Given the description of an element on the screen output the (x, y) to click on. 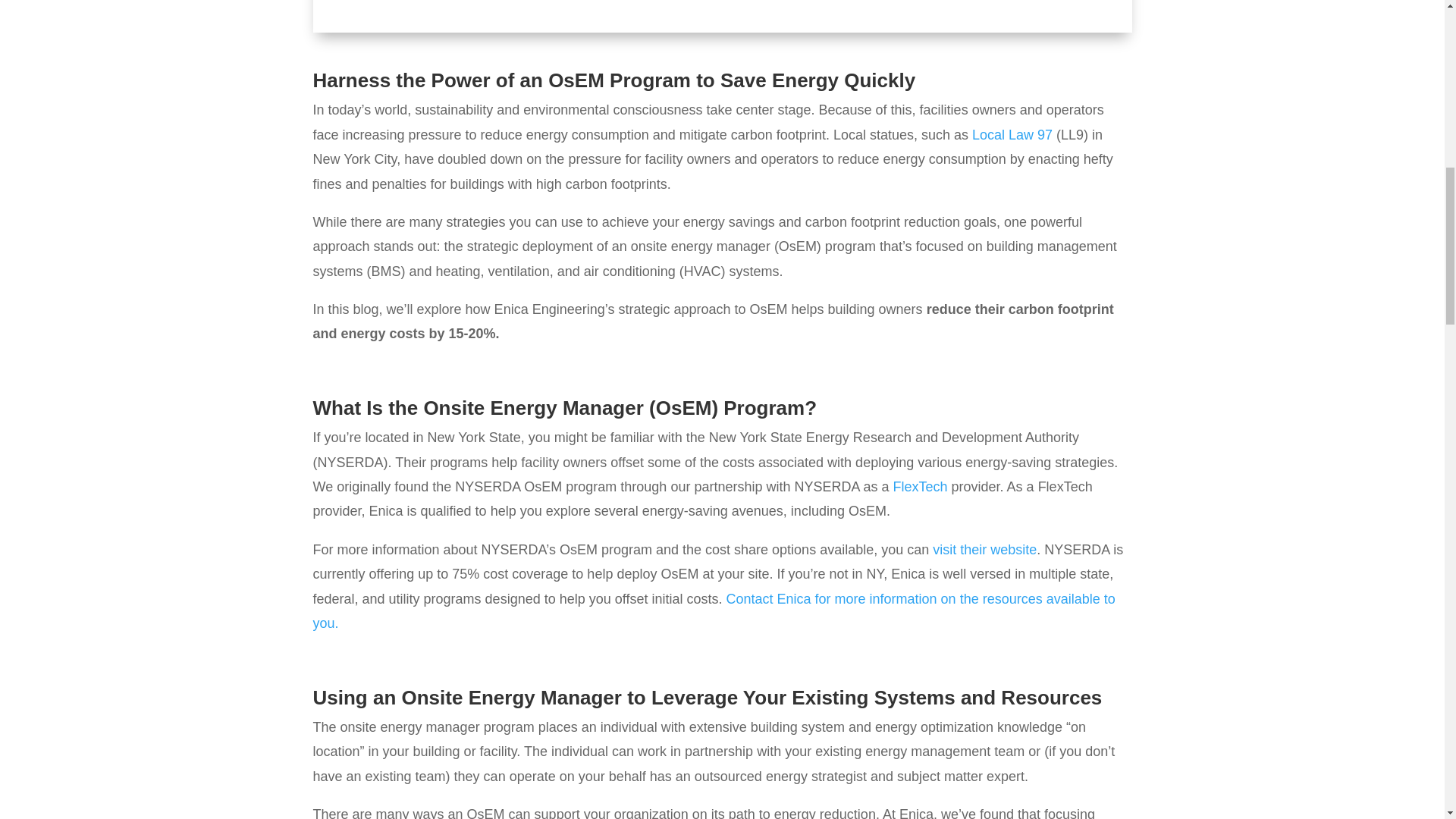
visit their website (984, 549)
Local Law 97 (1012, 134)
onsite-energy-management (722, 16)
FlexTech (920, 486)
